Given the description of an element on the screen output the (x, y) to click on. 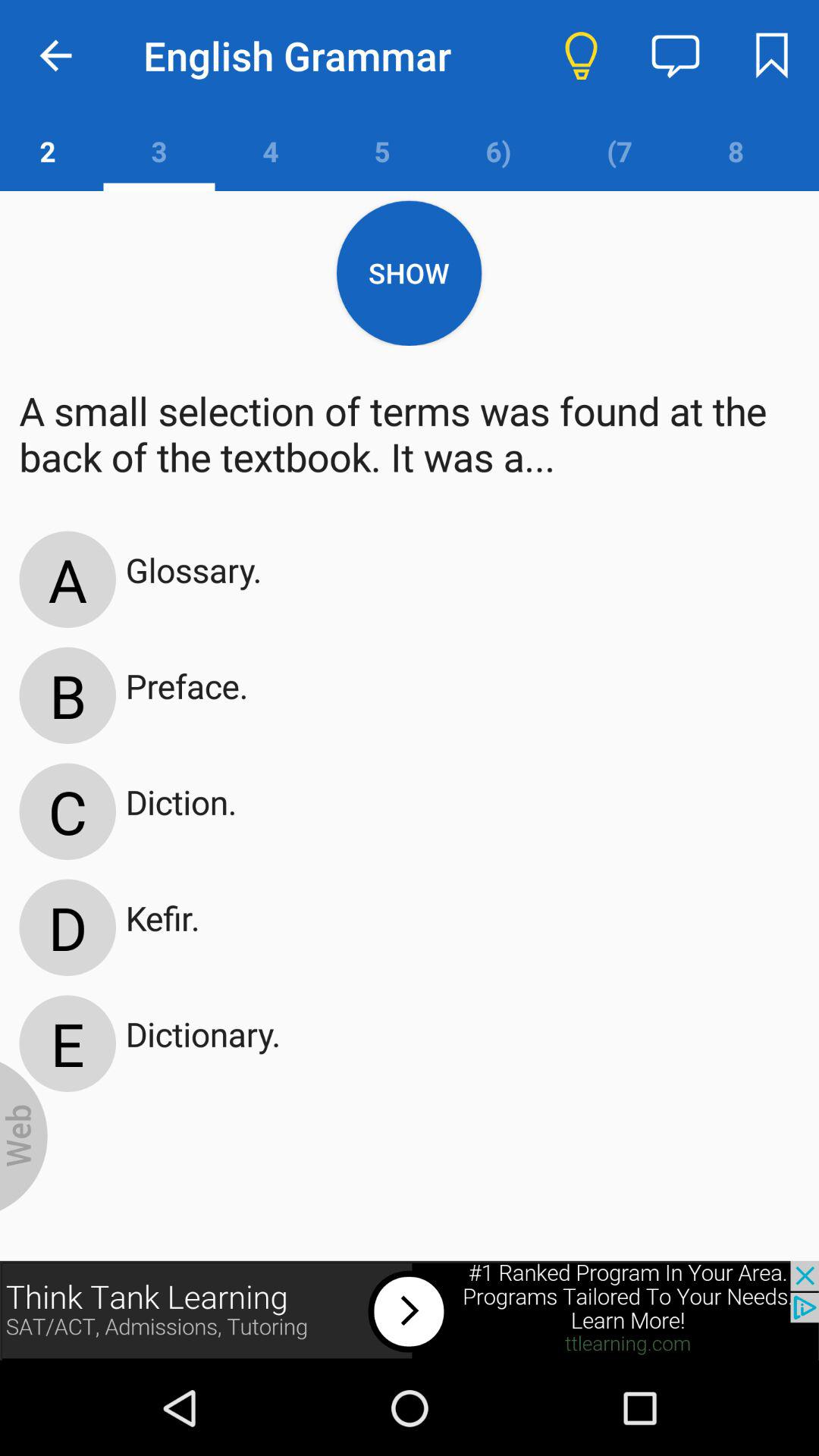
advertisement (409, 1310)
